Given the description of an element on the screen output the (x, y) to click on. 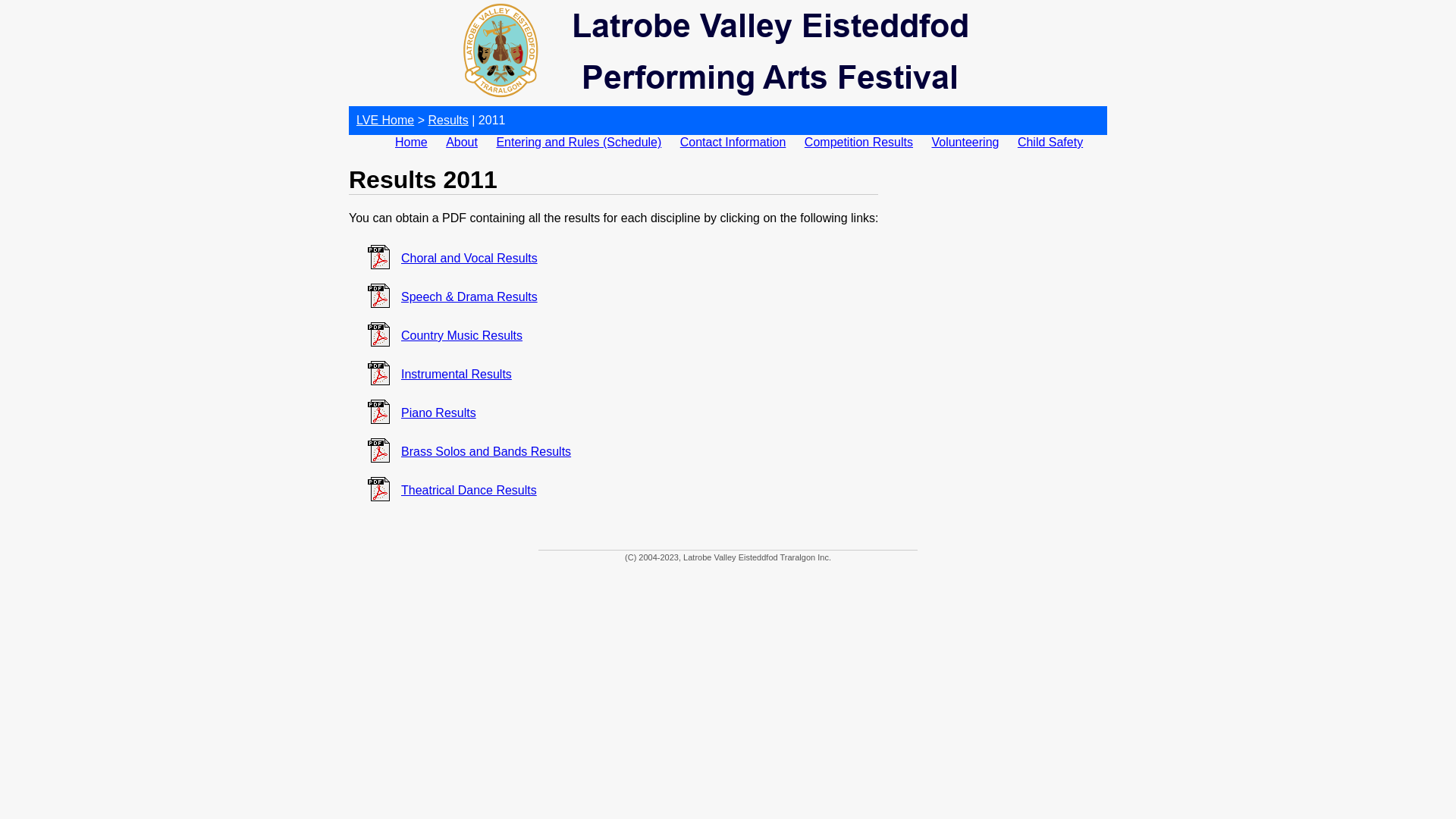
Volunteering Element type: text (964, 141)
Entering and Rules (Schedule) Element type: text (578, 141)
Child Safety Element type: text (1049, 141)
Home Element type: text (411, 141)
Competition Results Element type: text (858, 141)
Contact Information Element type: text (733, 141)
About Element type: text (461, 141)
Instrumental Results Element type: text (456, 373)
Piano Results Element type: text (438, 412)
Theatrical Dance Results Element type: text (468, 489)
Speech & Drama Results Element type: text (469, 296)
Choral and Vocal Results Element type: text (469, 257)
Brass Solos and Bands Results Element type: text (486, 451)
Results Element type: text (447, 119)
Country Music Results Element type: text (461, 335)
LVE Home Element type: text (385, 119)
